Given the description of an element on the screen output the (x, y) to click on. 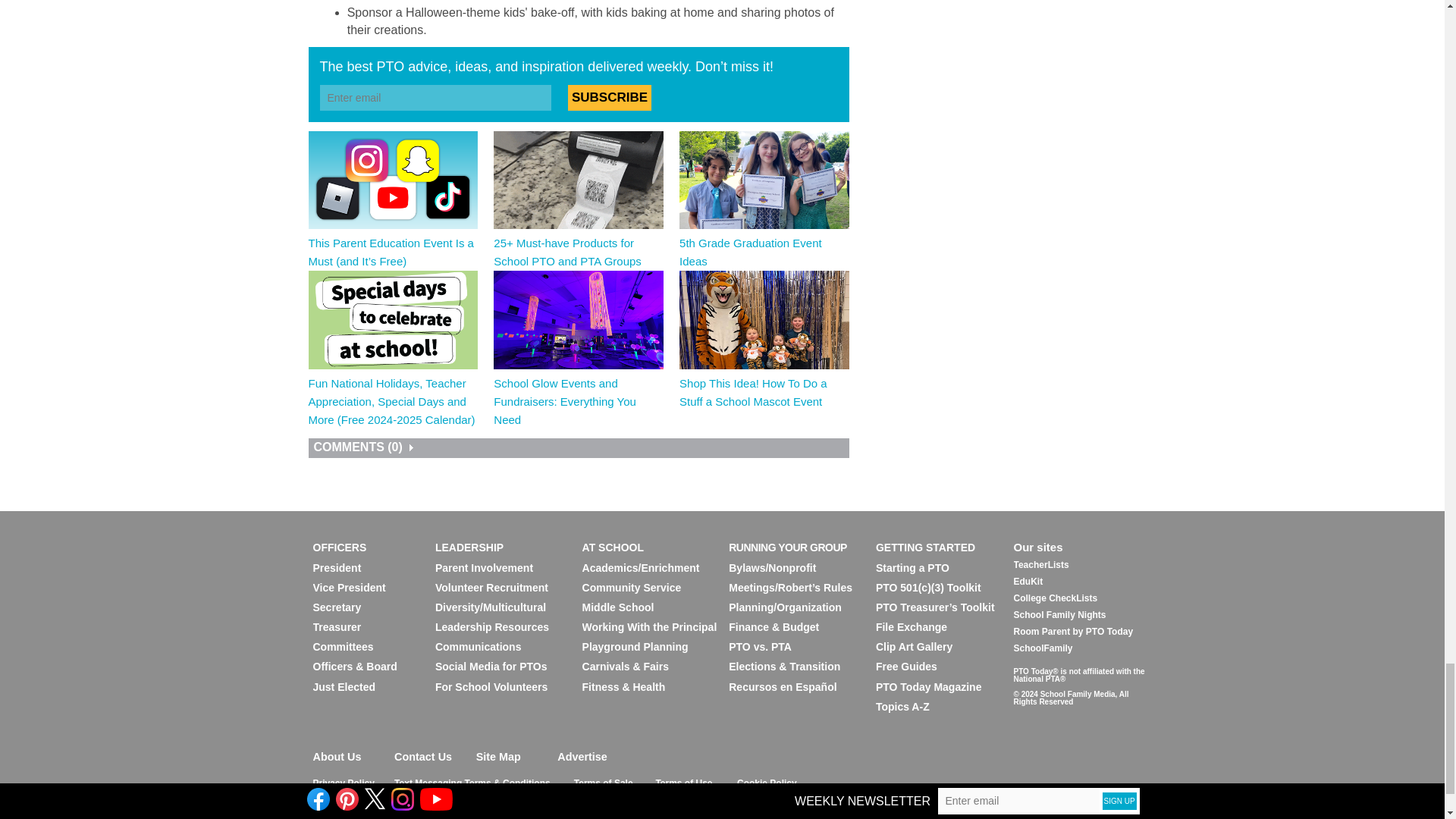
SUBSCRIBE (608, 97)
